Given the description of an element on the screen output the (x, y) to click on. 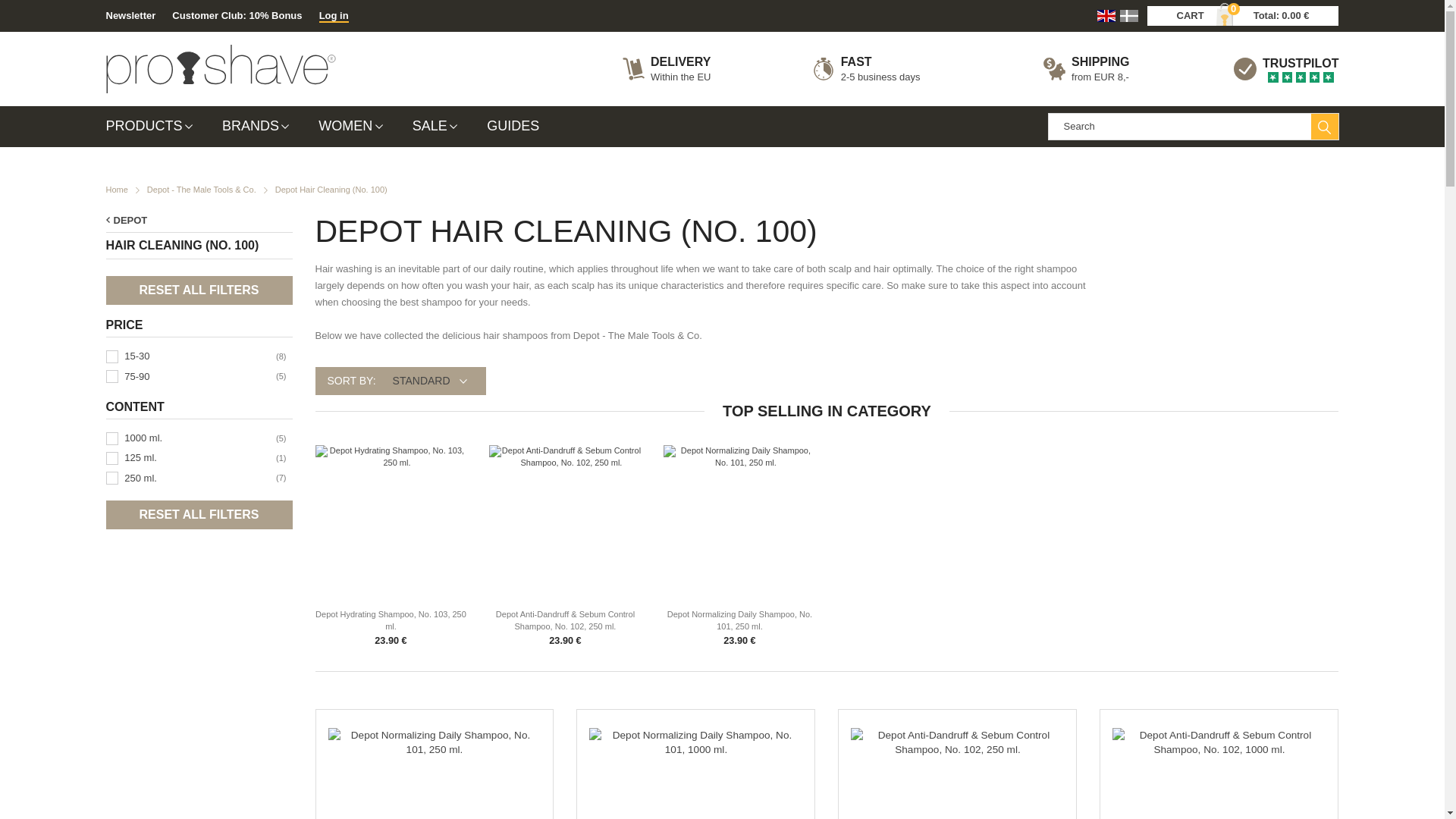
Log in (333, 15)
Search (1324, 126)
SHIPPING (1100, 62)
English (1106, 16)
Within the EU (680, 77)
2-5 business days (880, 77)
PRODUCTS (156, 126)
FAST (880, 62)
Dansk (1129, 16)
Search (1324, 126)
TRUSTPILOT (1300, 63)
DELIVERY (680, 62)
Newsletter (130, 15)
from EUR 8,- (1100, 77)
